Given the description of an element on the screen output the (x, y) to click on. 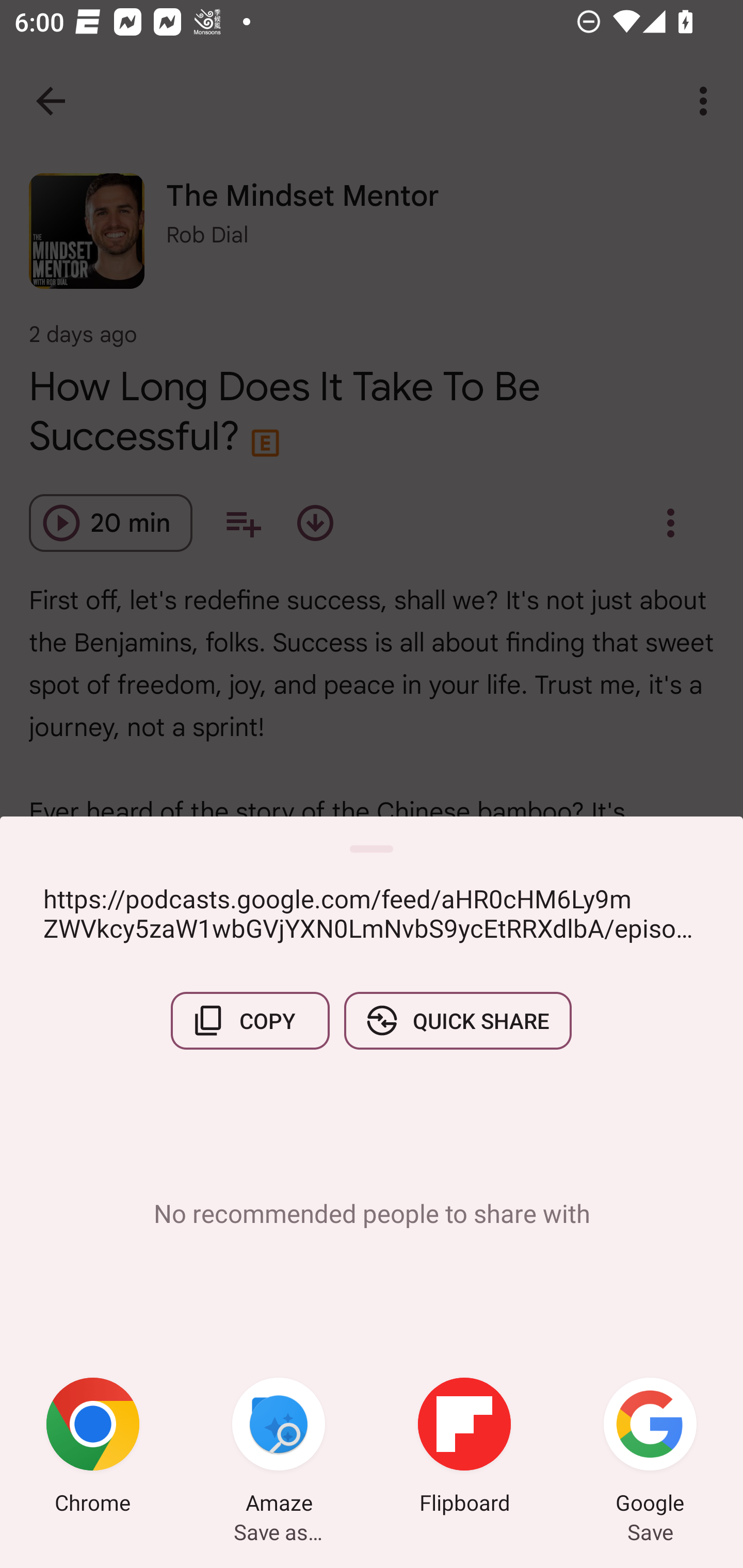
COPY (249, 1020)
QUICK SHARE (457, 1020)
Chrome (92, 1448)
Amaze Save as… (278, 1448)
Flipboard (464, 1448)
Google Save (650, 1448)
